Given the description of an element on the screen output the (x, y) to click on. 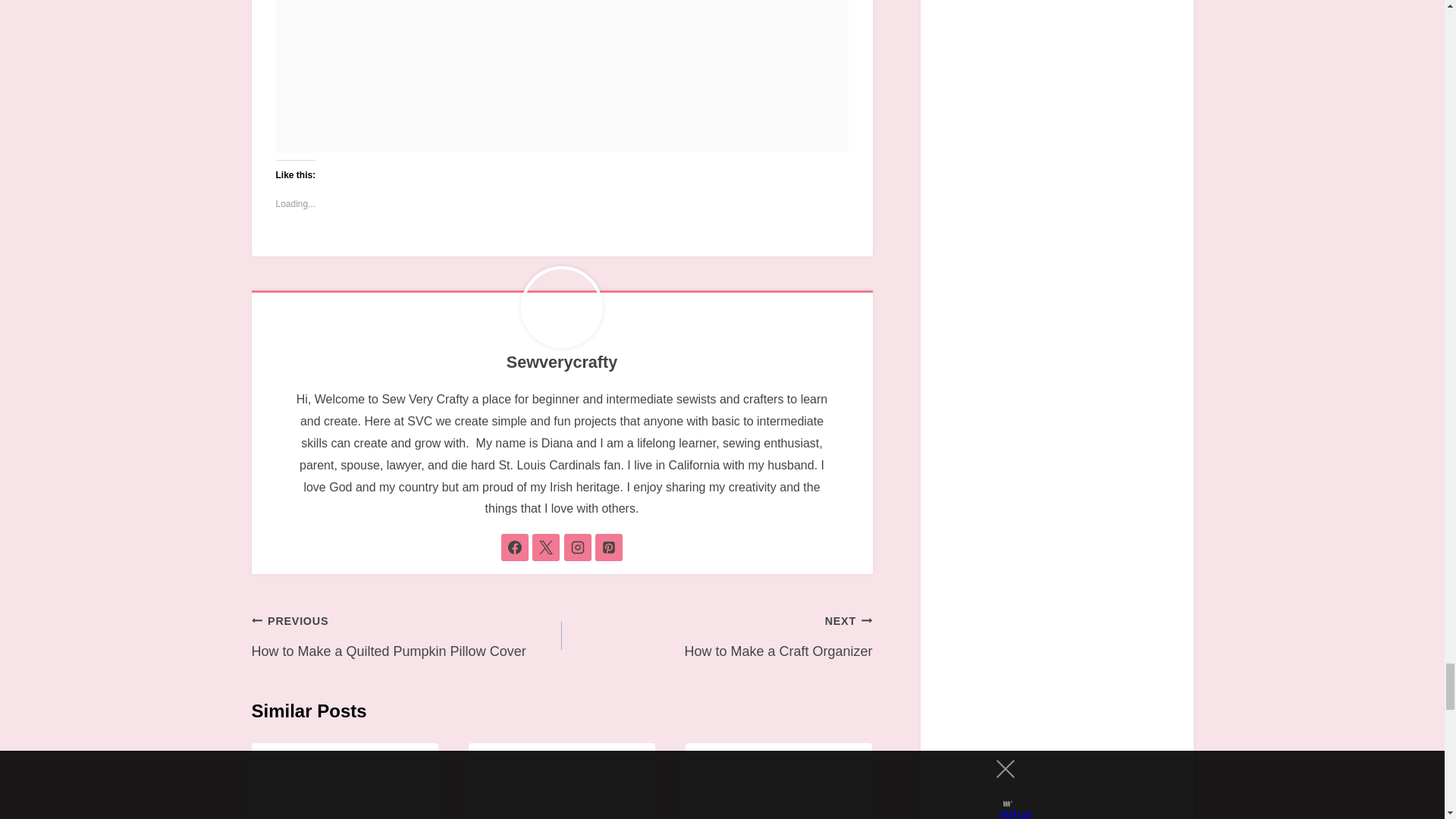
Follow Sewverycrafty on X formerly Twitter (545, 547)
Follow Sewverycrafty on Facebook (514, 547)
Posts by Sewverycrafty (561, 361)
Follow Sewverycrafty on Instagram (577, 547)
